Given the description of an element on the screen output the (x, y) to click on. 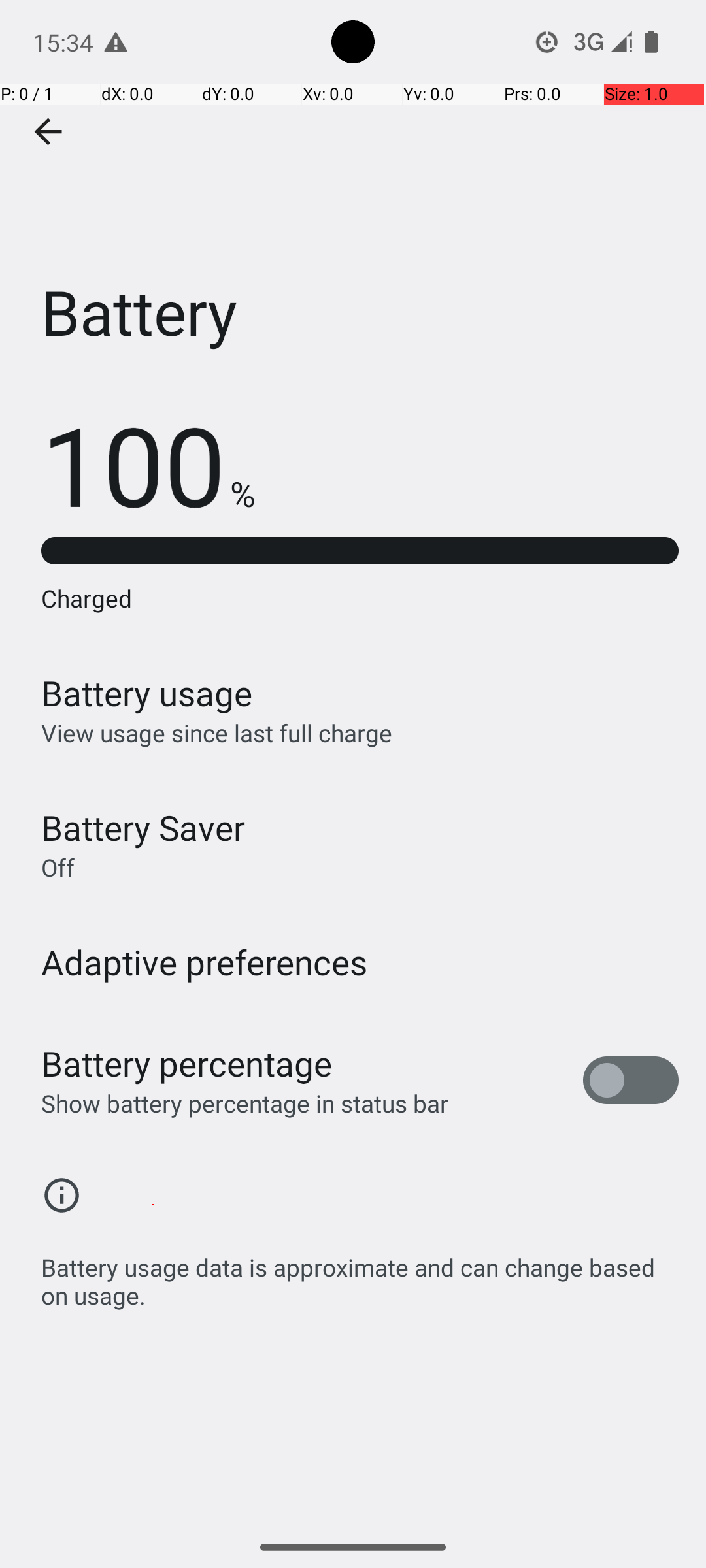
100 % Element type: android.widget.TextView (147, 463)
Charged Element type: android.widget.TextView (359, 597)
Battery usage Element type: android.widget.TextView (146, 692)
View usage since last full charge Element type: android.widget.TextView (216, 732)
Battery Saver Element type: android.widget.TextView (143, 827)
Adaptive preferences Element type: android.widget.TextView (204, 961)
Battery percentage Element type: android.widget.TextView (186, 1063)
Show battery percentage in status bar Element type: android.widget.TextView (244, 1102)
Battery usage data is approximate and can change based on usage. Element type: android.widget.TextView (359, 1274)
